Given the description of an element on the screen output the (x, y) to click on. 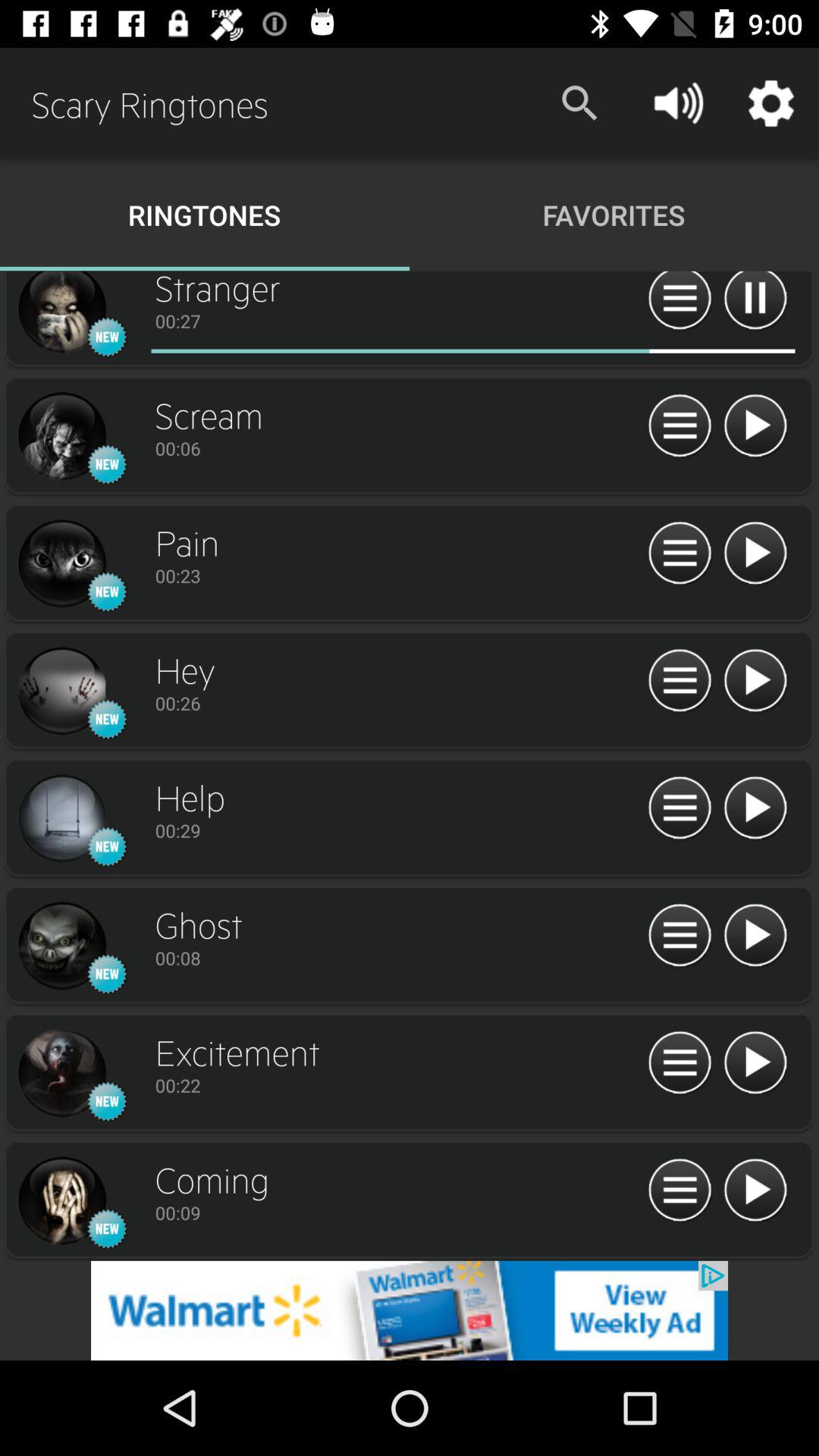
switch autoplay option (755, 1063)
